Given the description of an element on the screen output the (x, y) to click on. 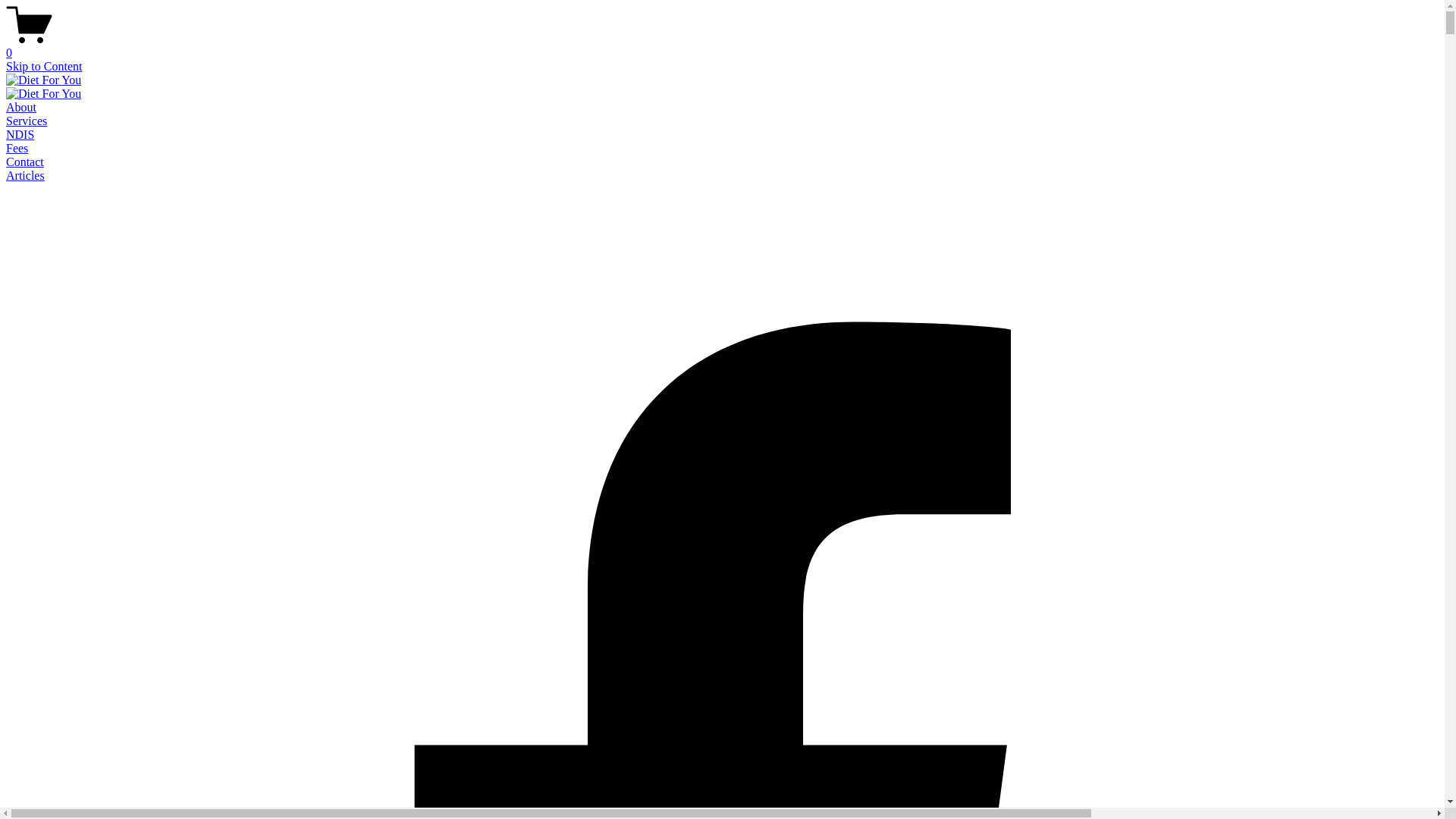
Contact Element type: text (24, 161)
Fees Element type: text (17, 147)
NDIS Element type: text (20, 134)
0 Element type: text (722, 45)
About Element type: text (21, 106)
Articles Element type: text (25, 175)
Services Element type: text (26, 120)
Skip to Content Element type: text (43, 65)
